Given the description of an element on the screen output the (x, y) to click on. 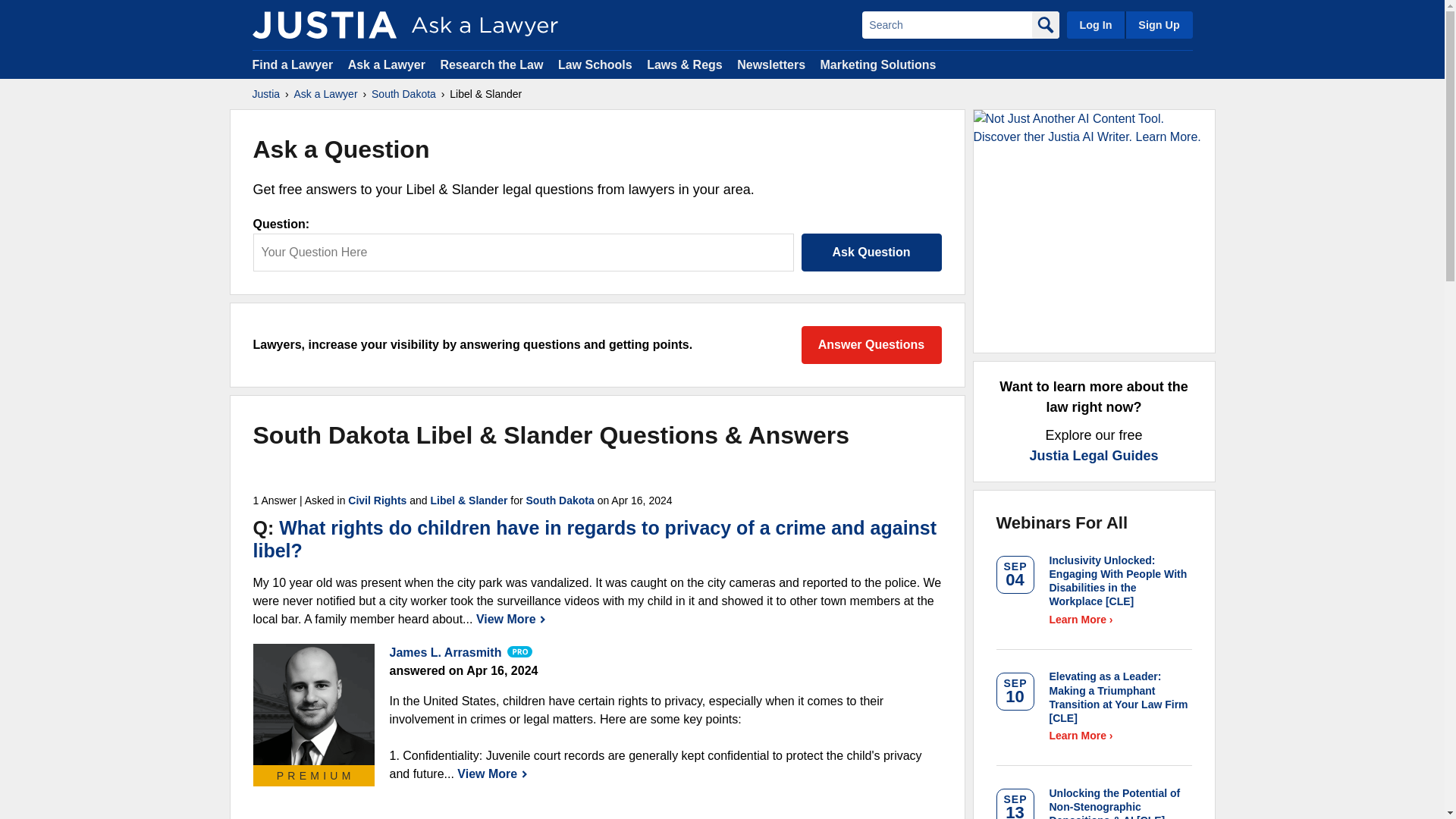
Search (945, 24)
Sign Up (1158, 24)
South Dakota (559, 500)
Justia (323, 24)
Justia (265, 93)
South Dakota (403, 93)
Marketing Solutions (877, 64)
Newsletters (770, 64)
Log In (1094, 24)
